Given the description of an element on the screen output the (x, y) to click on. 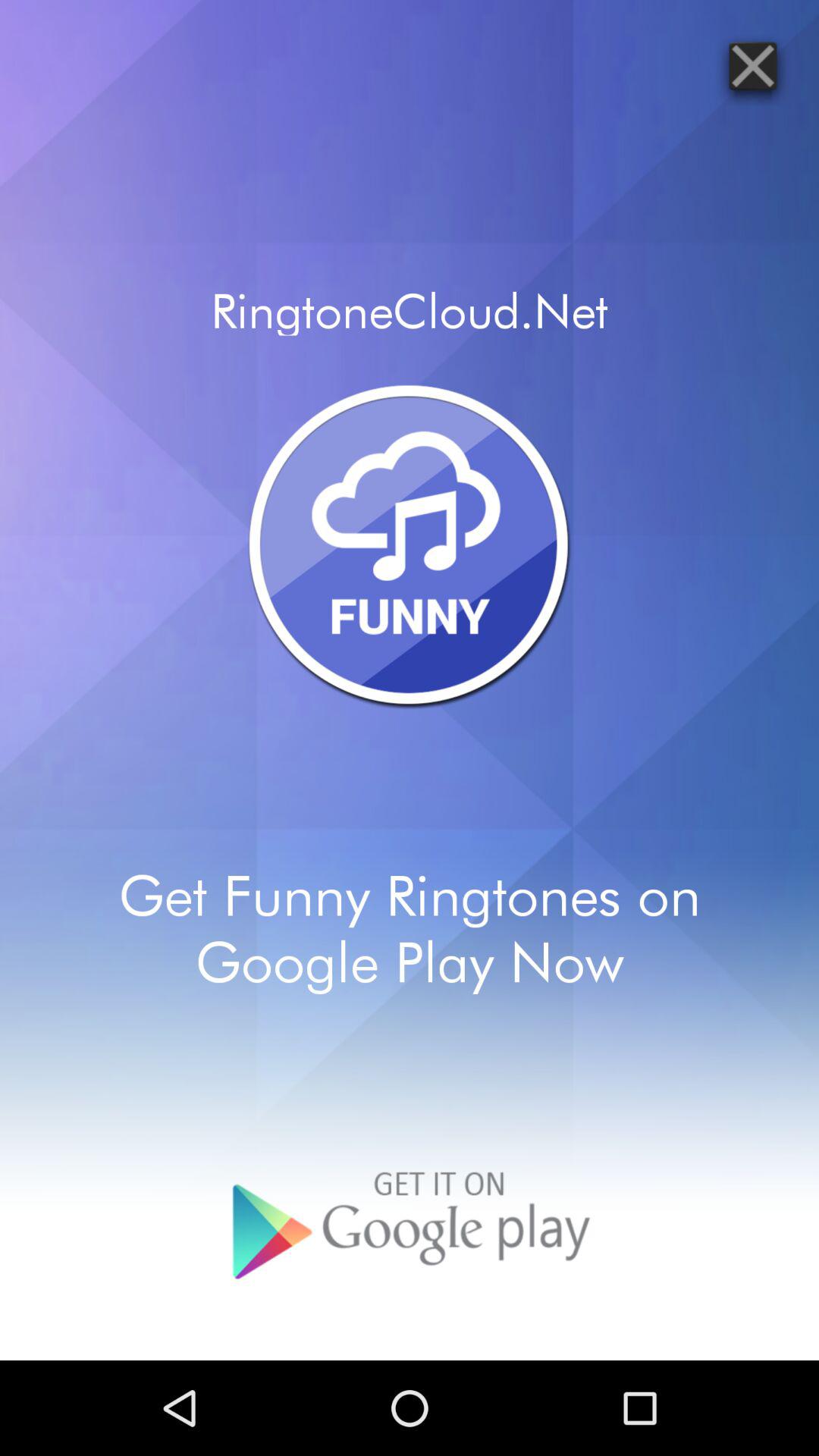
exit this layout (752, 65)
